Given the description of an element on the screen output the (x, y) to click on. 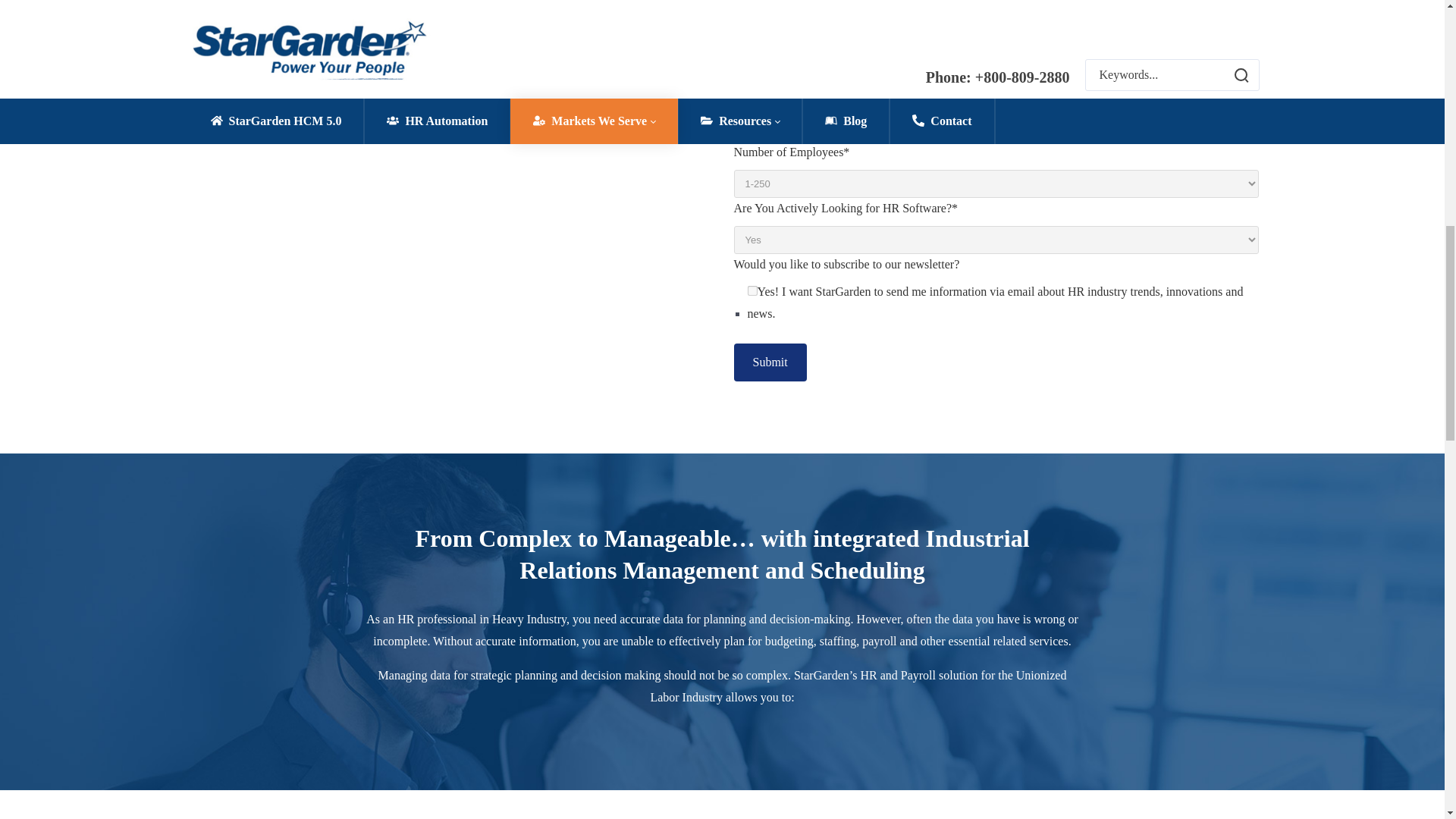
Submit (769, 362)
Subscribe to the StarGarden Newsletter (752, 290)
Submit (769, 362)
